Given the description of an element on the screen output the (x, y) to click on. 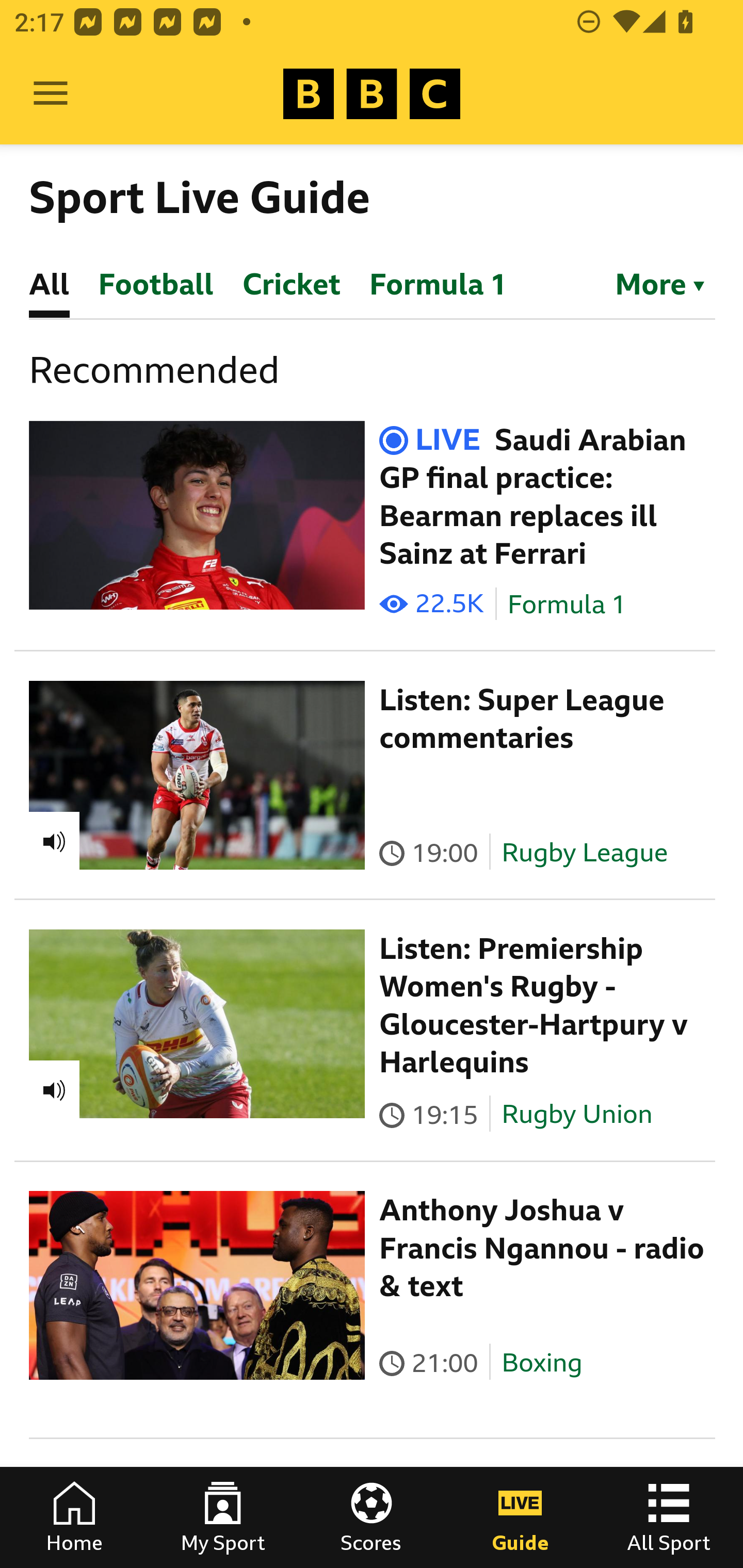
Open Menu (50, 93)
Formula 1 (566, 604)
Listen: Super League commentaries (522, 718)
Rugby League (584, 851)
Rugby Union (576, 1113)
Anthony Joshua v Francis Ngannou - radio & text (541, 1248)
Boxing (541, 1362)
Home (74, 1517)
My Sport (222, 1517)
Scores (371, 1517)
All Sport (668, 1517)
